Given the description of an element on the screen output the (x, y) to click on. 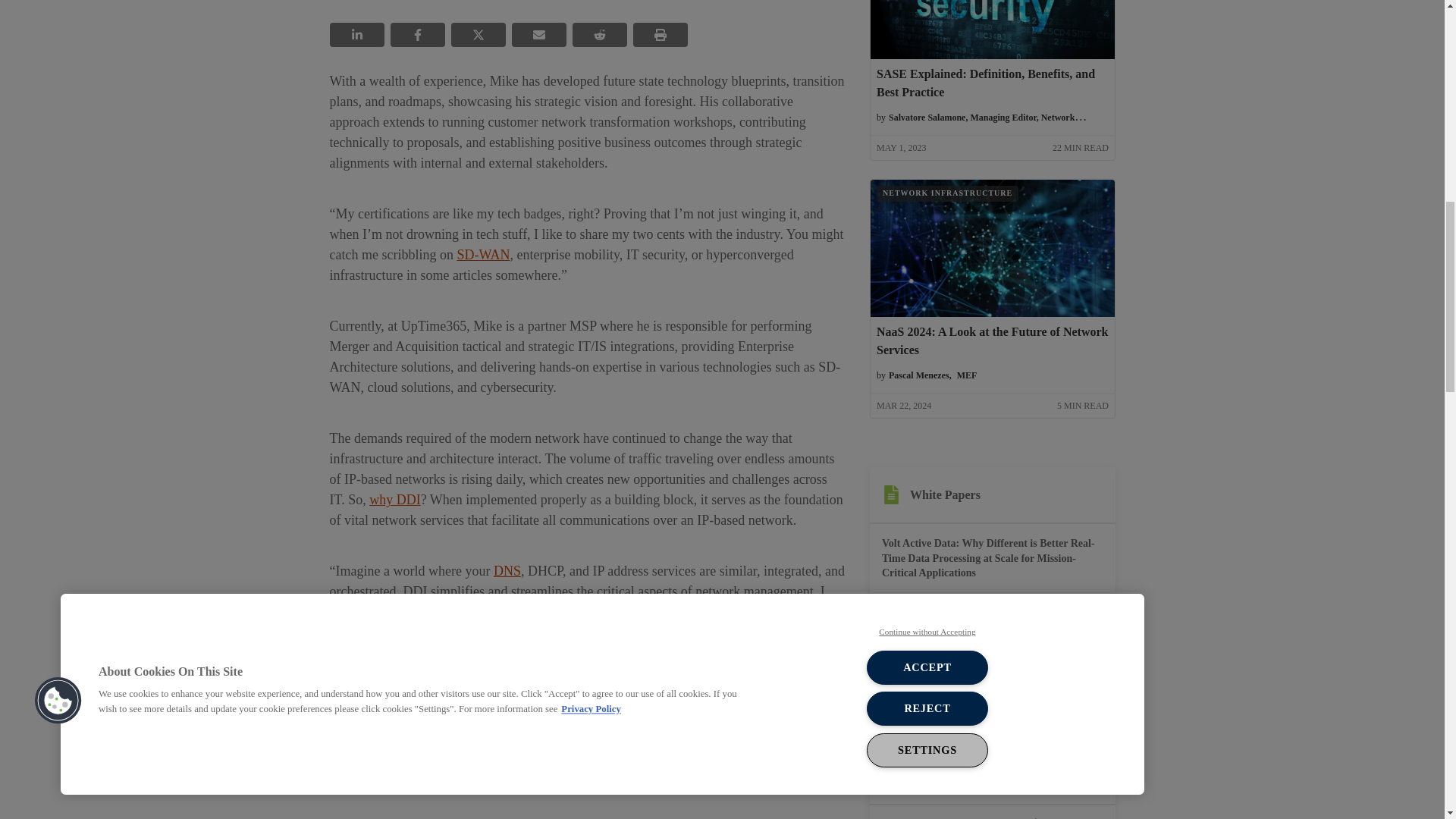
Embedded content (586, 802)
